Given the description of an element on the screen output the (x, y) to click on. 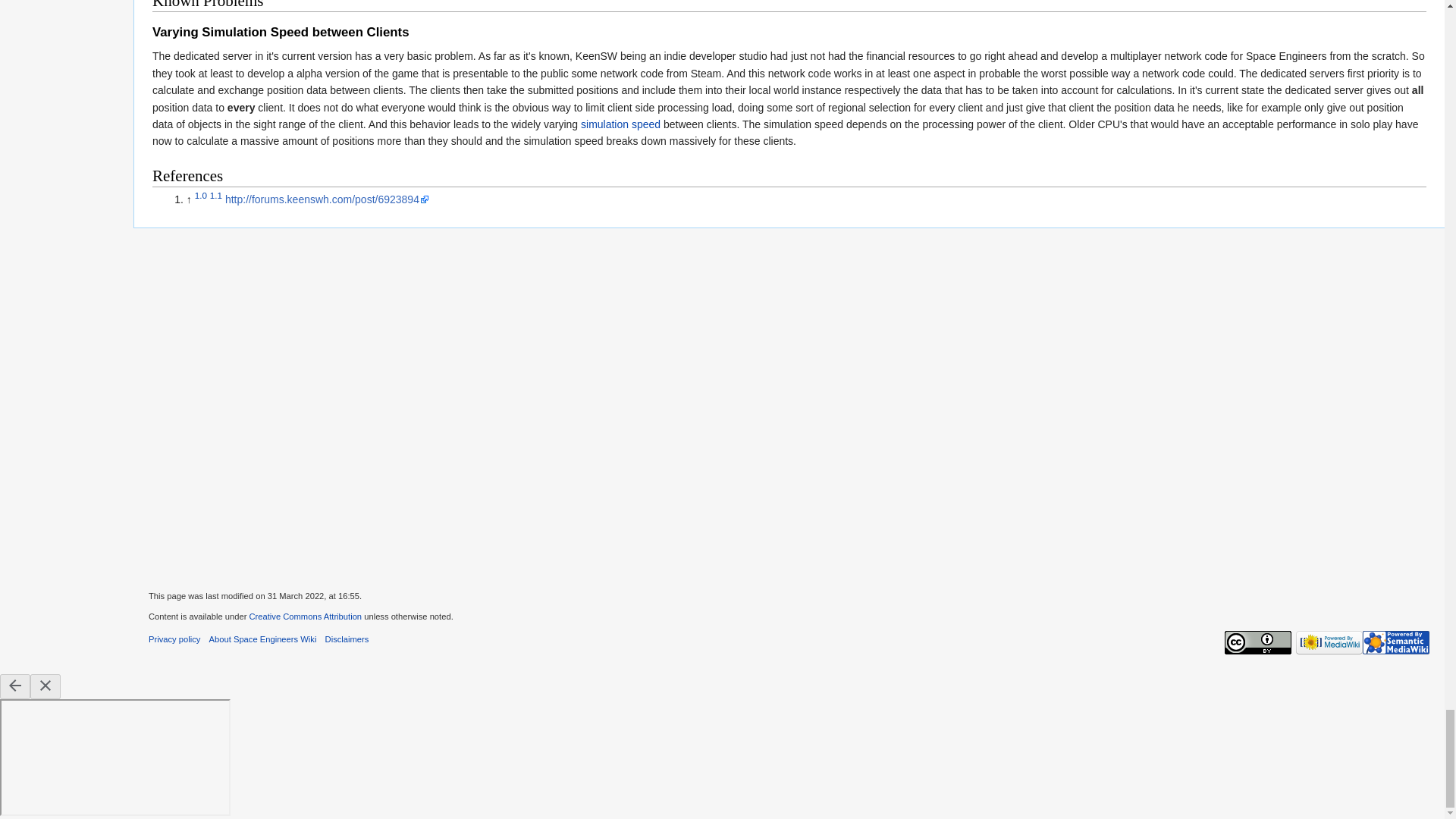
Simulation Speed (620, 123)
1.0 (200, 195)
simulation speed (620, 123)
